Given the description of an element on the screen output the (x, y) to click on. 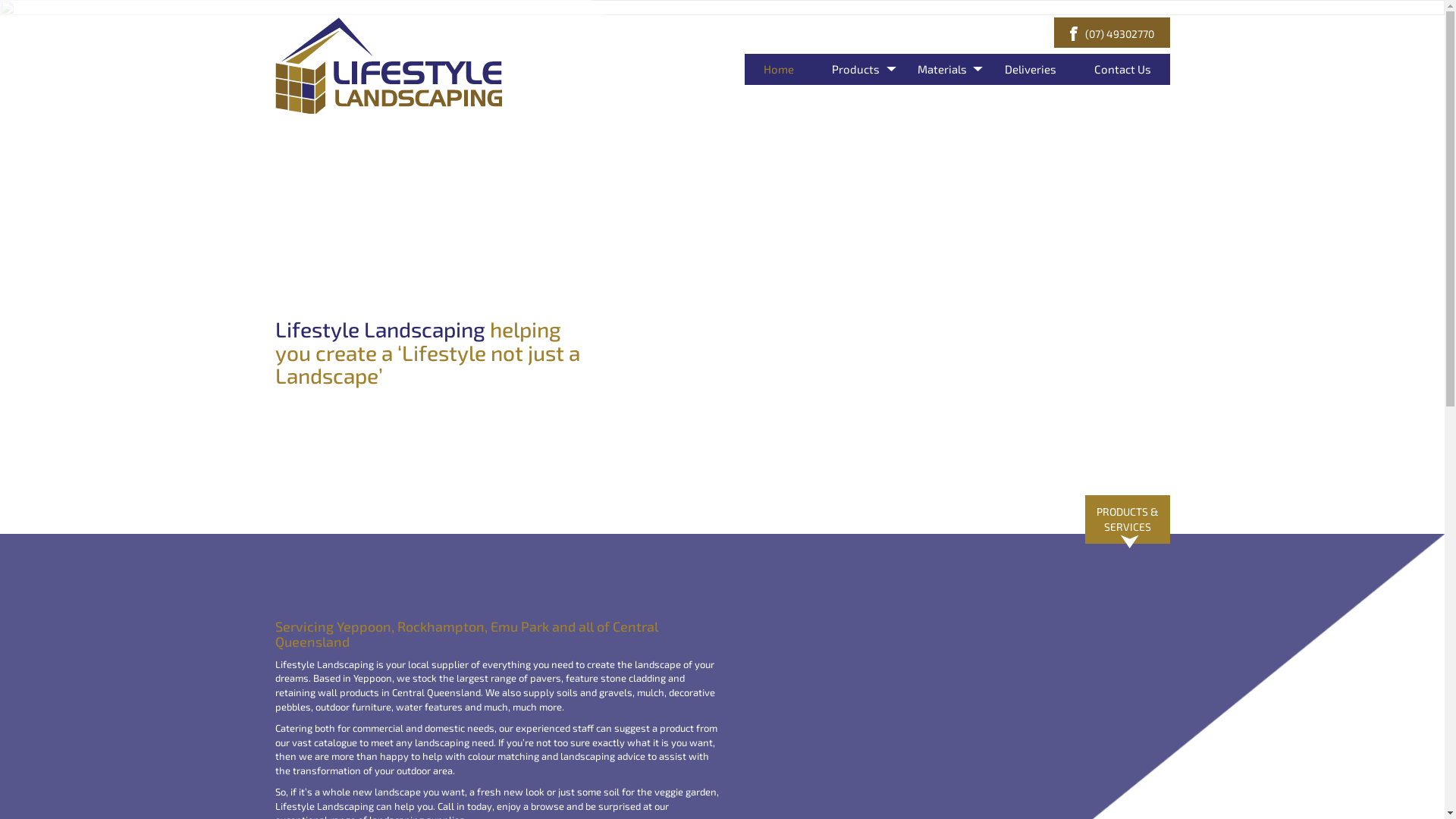
Home Element type: text (778, 68)
Materials Element type: text (941, 68)
home-banner2 Element type: hover (722, 266)
(07) 49302770 Element type: text (1118, 33)
PRODUCTS &
SERVICES Element type: text (1126, 519)
Contact Us Element type: text (1122, 68)
Deliveries Element type: text (1030, 68)
Products Element type: text (855, 68)
